Given the description of an element on the screen output the (x, y) to click on. 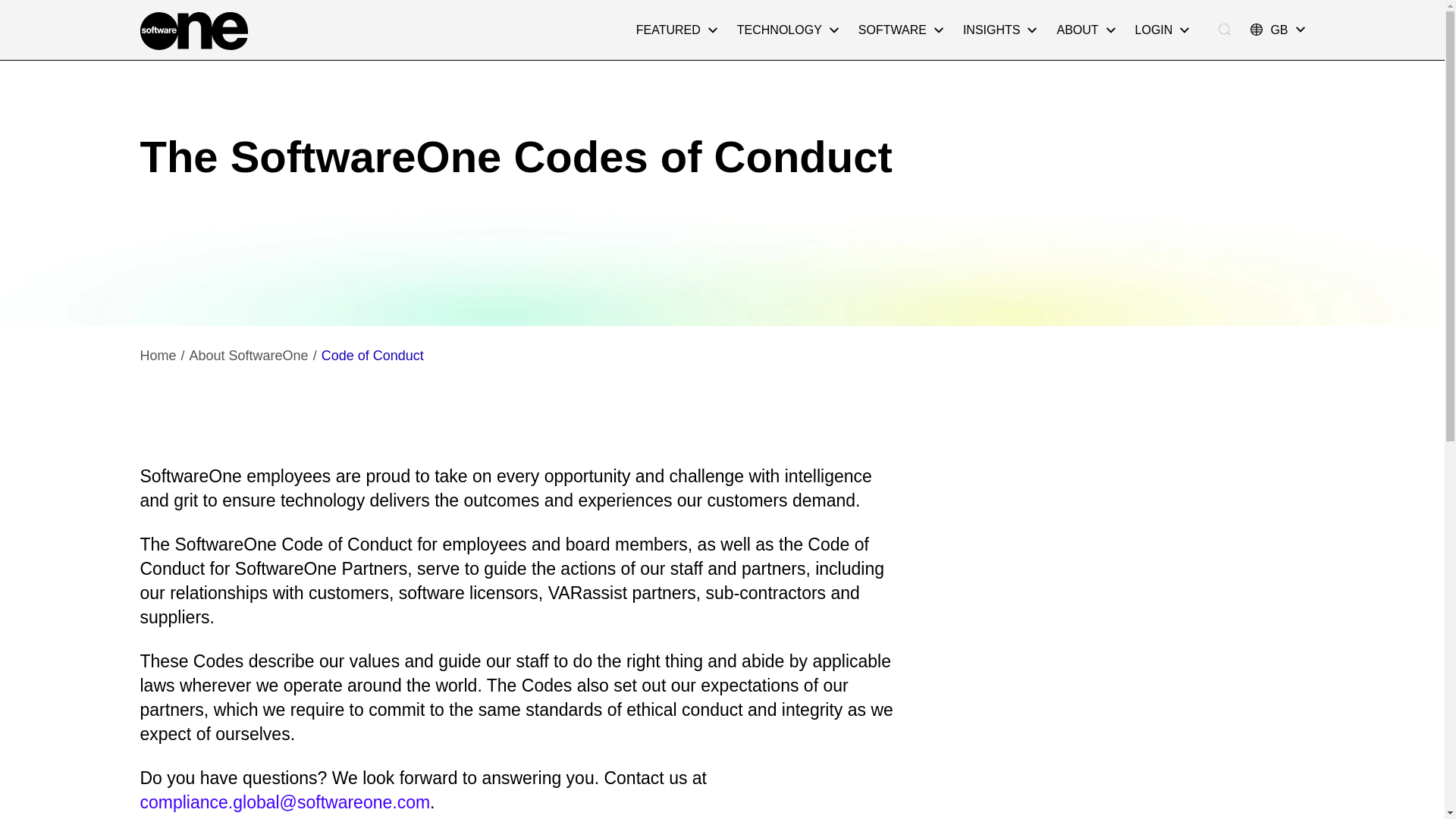
LOGIN (1162, 30)
TECHNOLOGY (787, 30)
SOFTWARE (900, 30)
INSIGHTS (999, 30)
FEATURED (676, 30)
ABOUT (1085, 30)
